Given the description of an element on the screen output the (x, y) to click on. 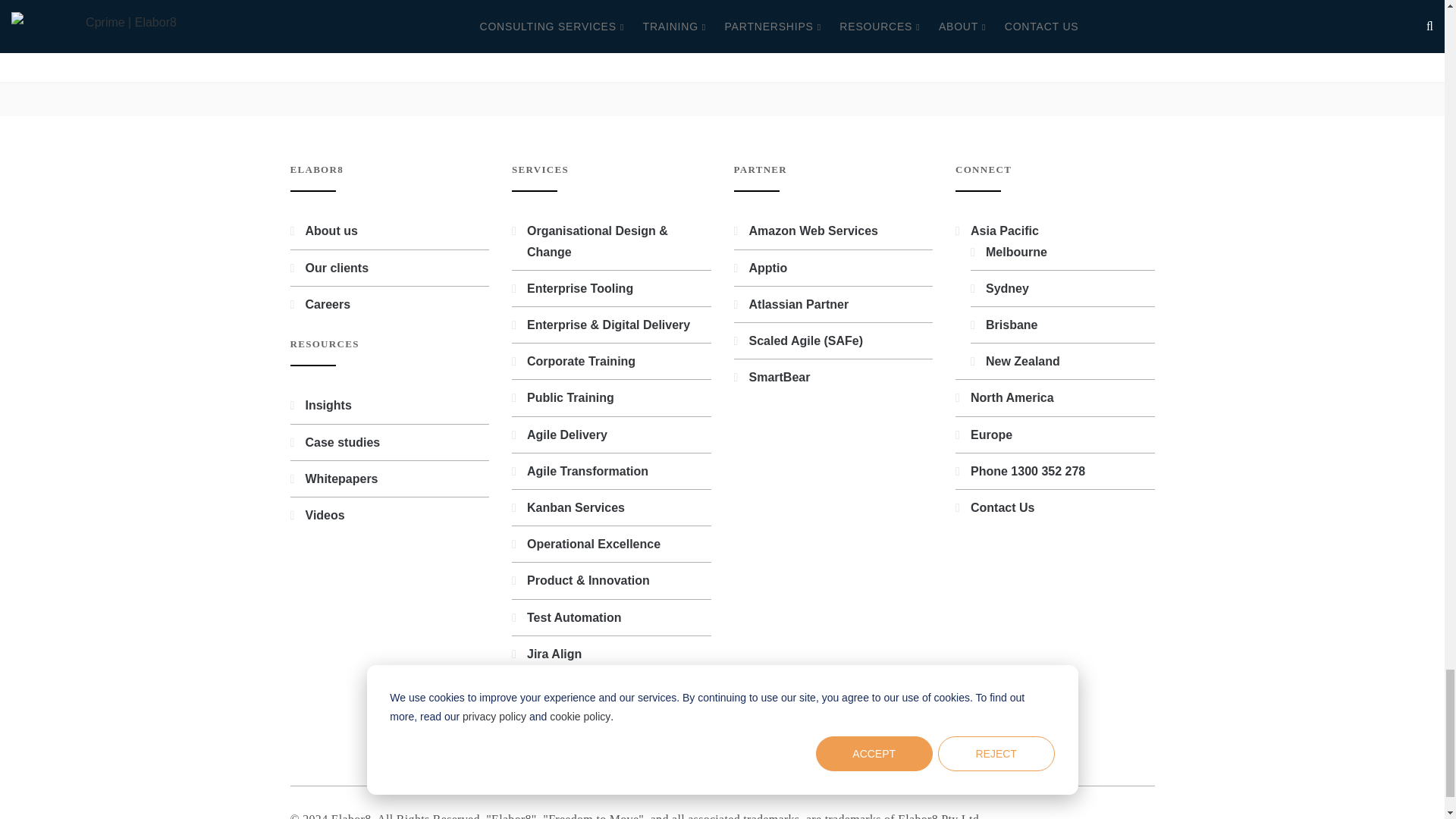
Case studies (342, 441)
Our clients (336, 267)
Whitepapers (340, 478)
Videos (323, 514)
About us (330, 230)
Insights (327, 404)
Careers (327, 304)
